Given the description of an element on the screen output the (x, y) to click on. 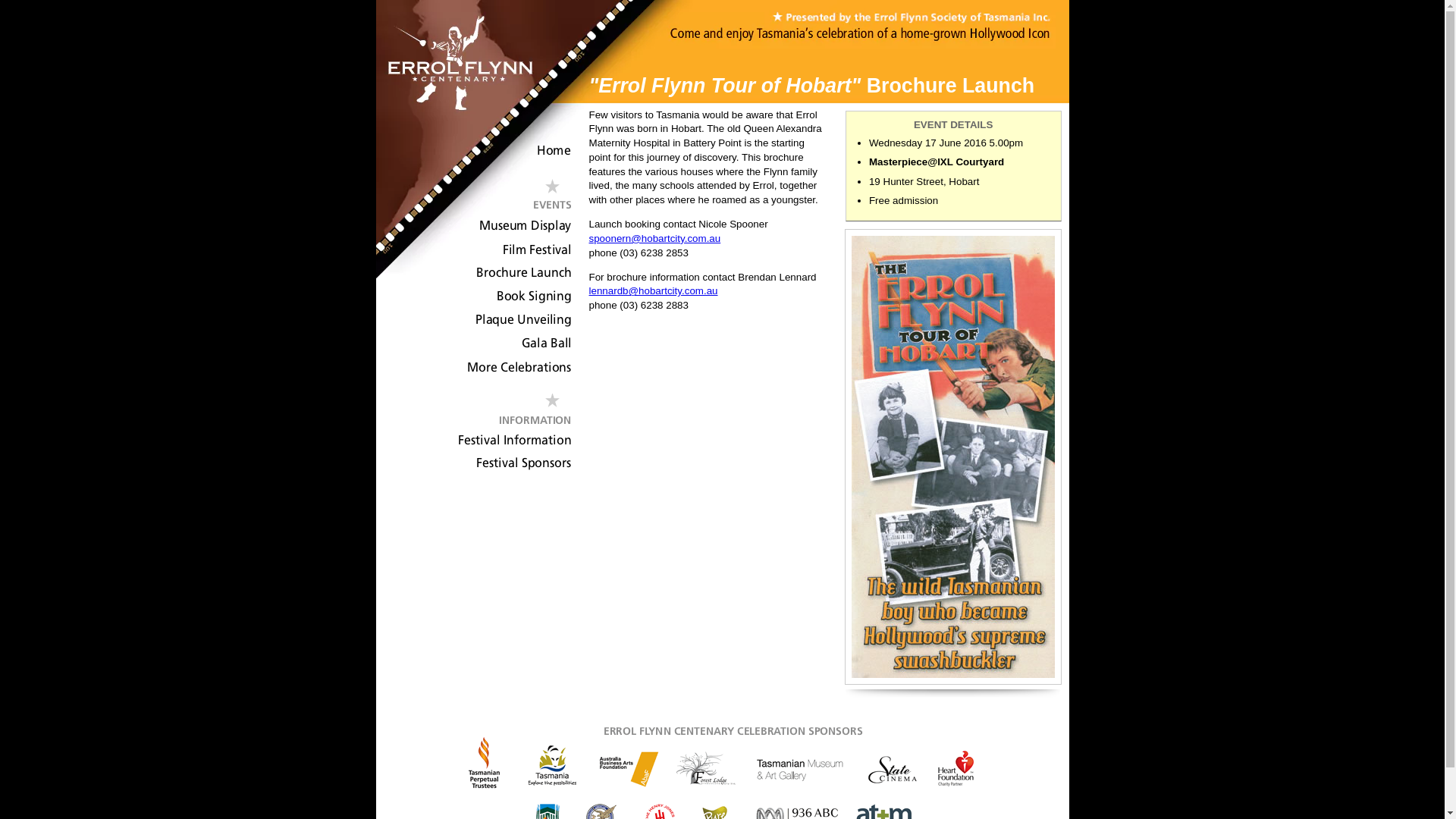
Film Festival Element type: text (473, 249)
lennardb@hobartcity.com.au Element type: text (652, 290)
Festival Sponsors Element type: text (473, 464)
Book Signing Element type: text (473, 296)
Museum Display Element type: text (473, 226)
Gala Ball Element type: text (473, 343)
Brochure Launch Element type: text (473, 273)
More Errol Celebrations Element type: text (473, 367)
spoonern@hobartcity.com.au Element type: text (654, 238)
Festival Information Element type: text (473, 440)
Home Element type: text (473, 152)
Plaque Unveiling Element type: text (473, 320)
